Given the description of an element on the screen output the (x, y) to click on. 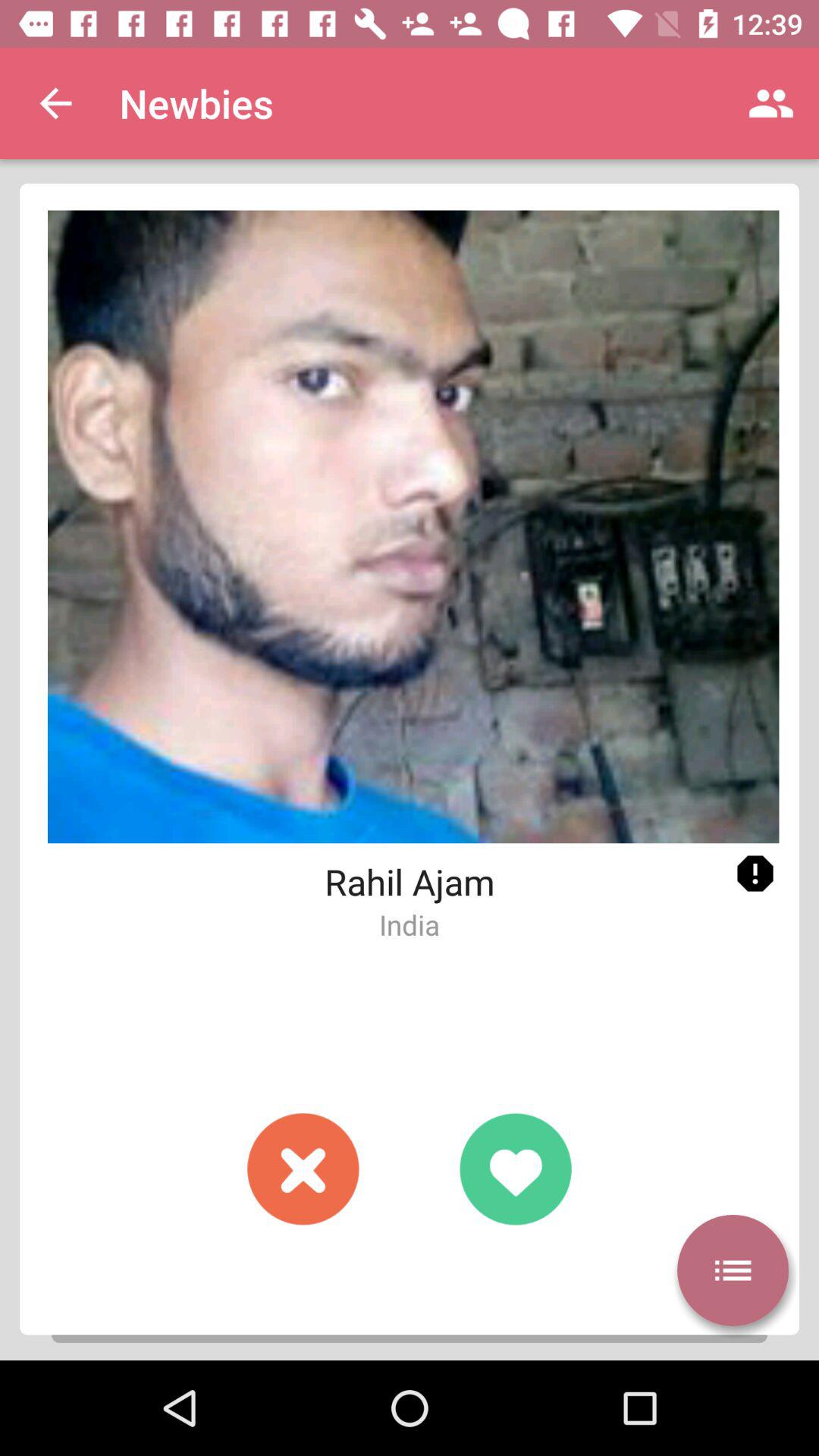
decline profile (303, 1169)
